Given the description of an element on the screen output the (x, y) to click on. 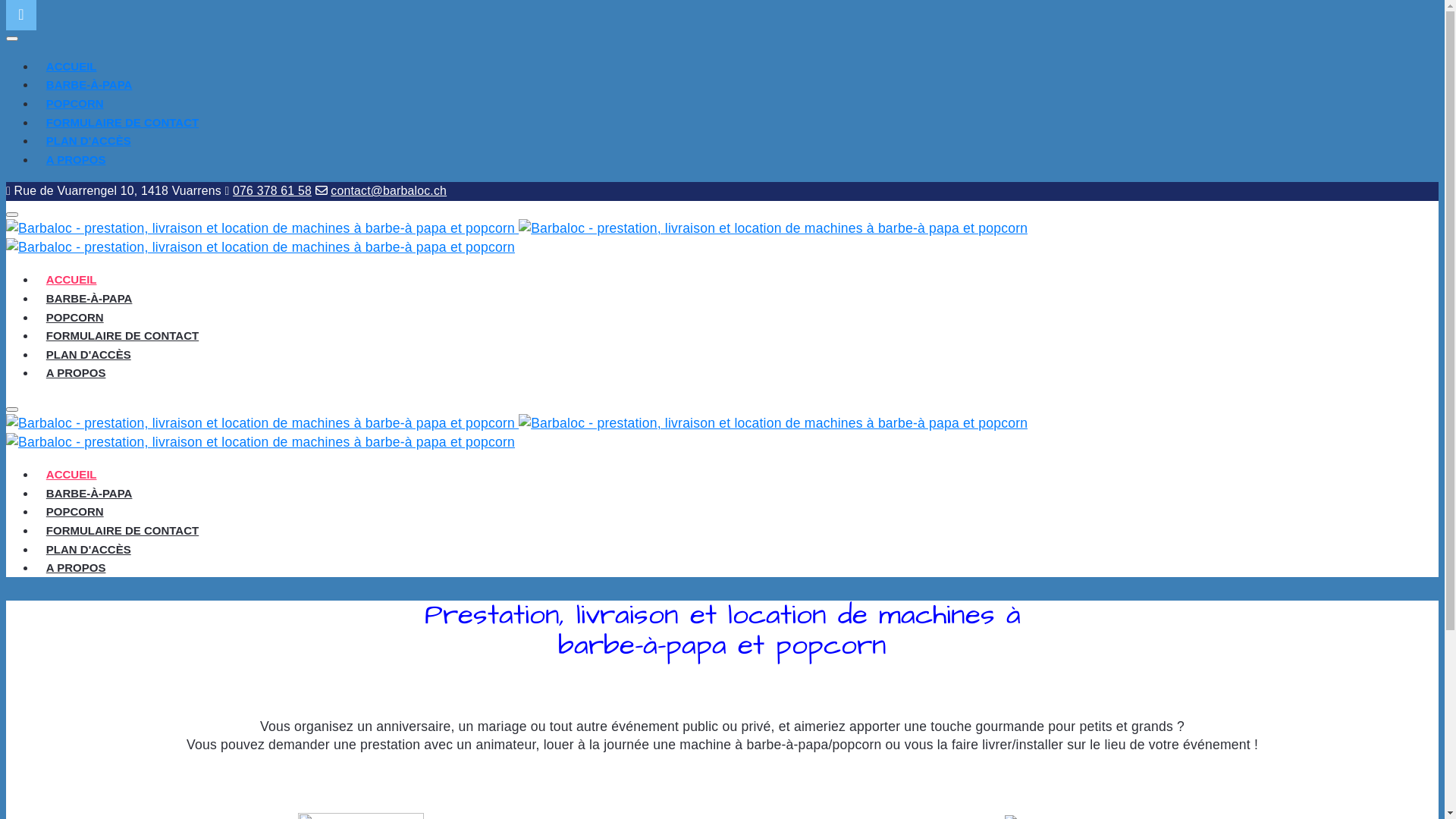
POPCORN Element type: text (74, 511)
076 378 61 58 Element type: text (271, 190)
ACCUEIL Element type: text (71, 278)
POPCORN Element type: text (74, 103)
FORMULAIRE DE CONTACT Element type: text (122, 335)
FORMULAIRE DE CONTACT Element type: text (122, 529)
Back to Top Element type: hover (21, 15)
ACCUEIL Element type: text (71, 473)
FORMULAIRE DE CONTACT Element type: text (122, 121)
A PROPOS Element type: text (75, 372)
POPCORN Element type: text (74, 316)
A PROPOS Element type: text (75, 567)
contact@barbaloc.ch Element type: text (388, 190)
A PROPOS Element type: text (75, 159)
ACCUEIL Element type: text (71, 65)
